Given the description of an element on the screen output the (x, y) to click on. 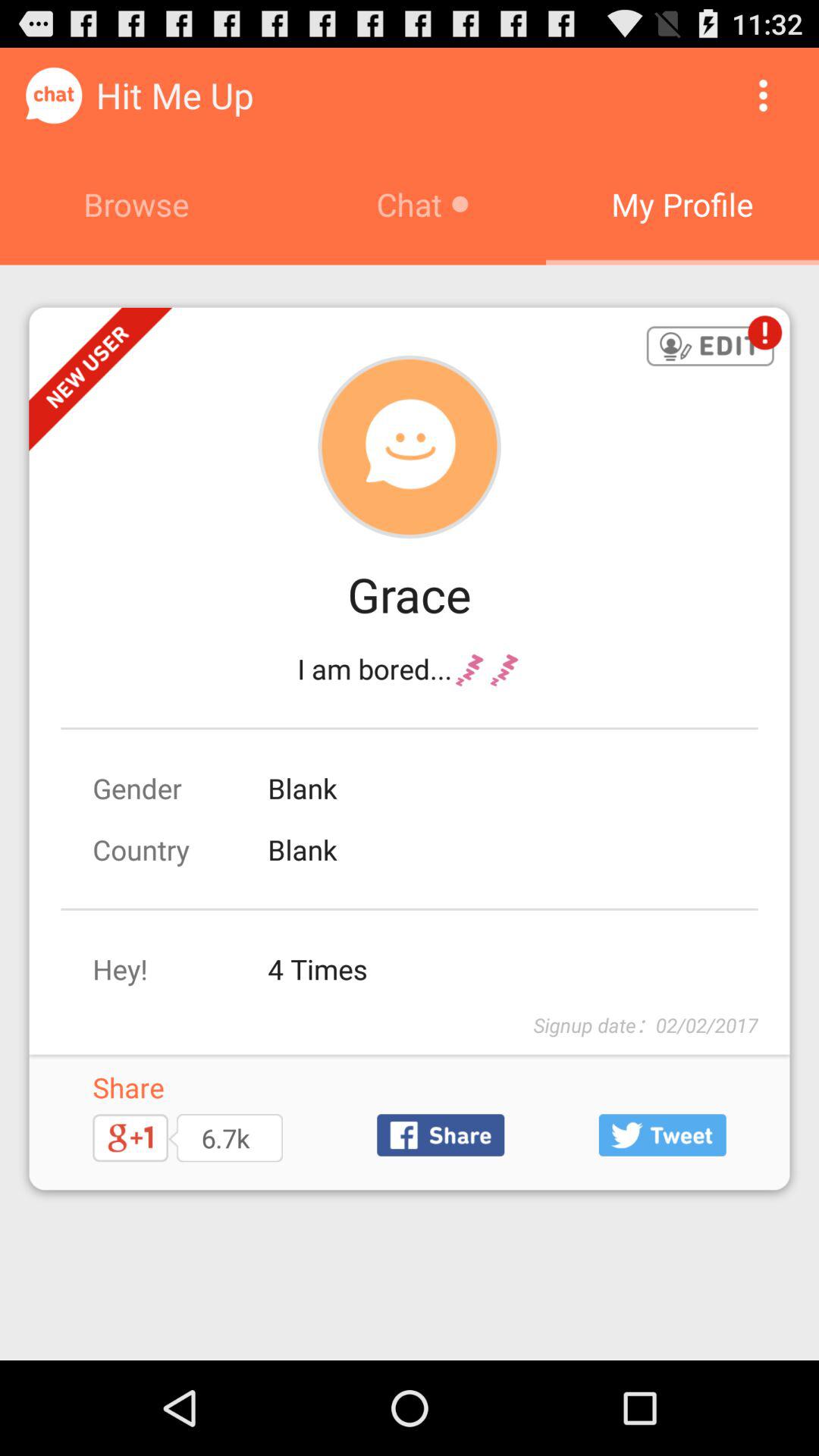
share the profile (440, 1135)
